Given the description of an element on the screen output the (x, y) to click on. 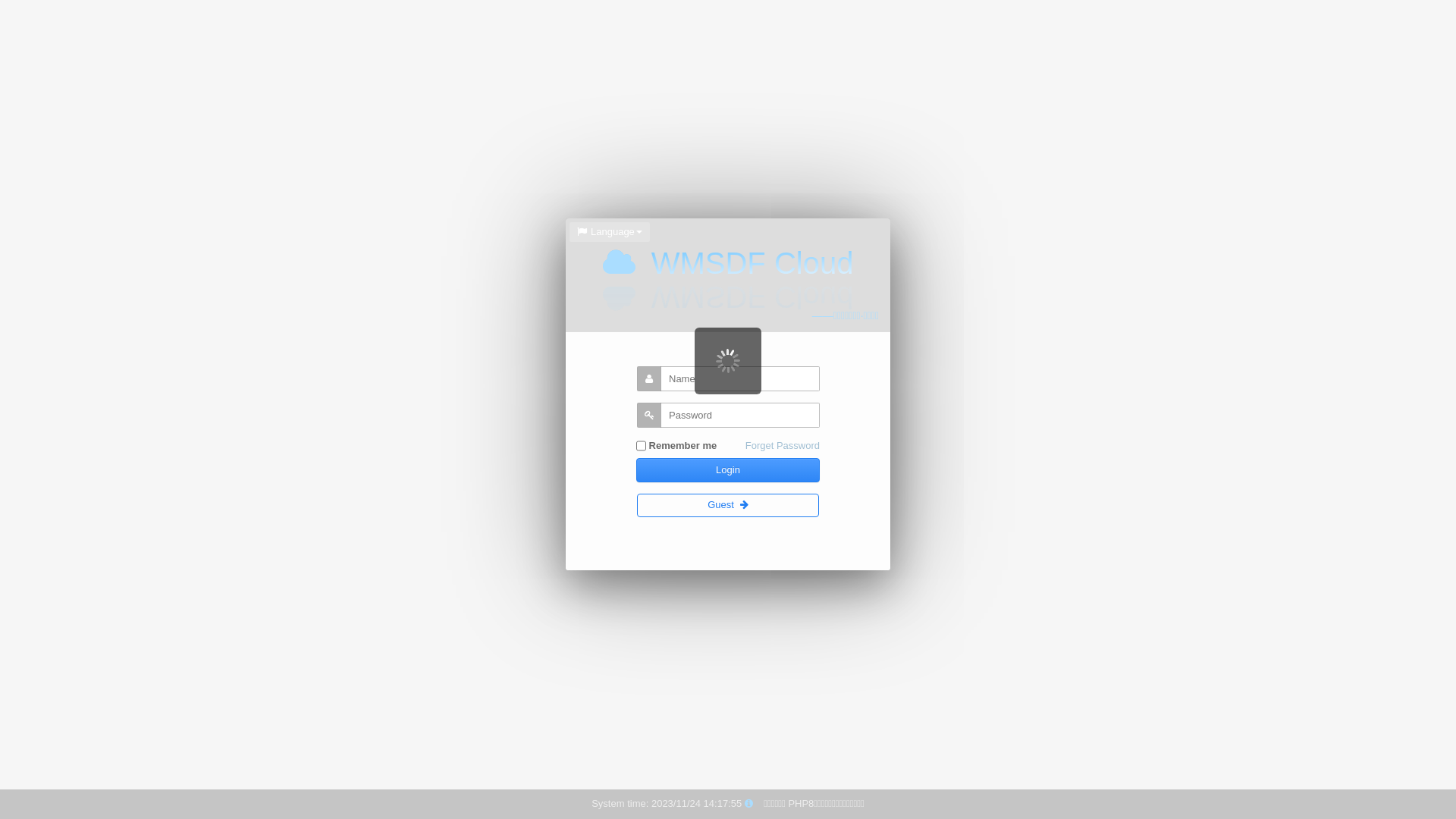
Login Element type: text (727, 470)
Forget Password Element type: text (782, 446)
Language Element type: text (609, 231)
Guest Element type: text (728, 505)
